Given the description of an element on the screen output the (x, y) to click on. 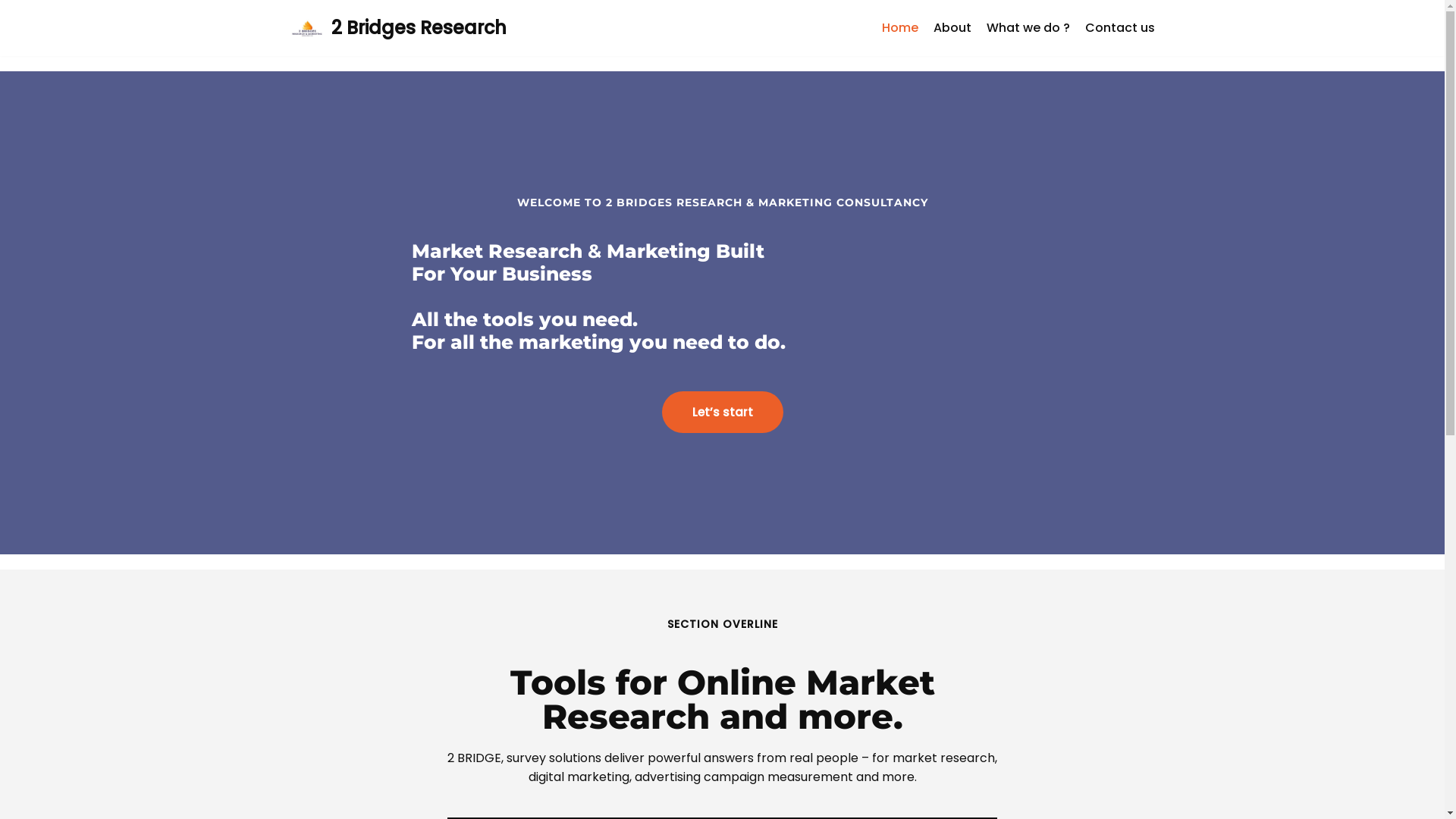
Contact us Element type: text (1119, 27)
About Element type: text (951, 27)
Skip to content Element type: text (11, 31)
2 Bridges Research Element type: text (397, 27)
Home Element type: text (899, 27)
What we do ? Element type: text (1027, 27)
